Given the description of an element on the screen output the (x, y) to click on. 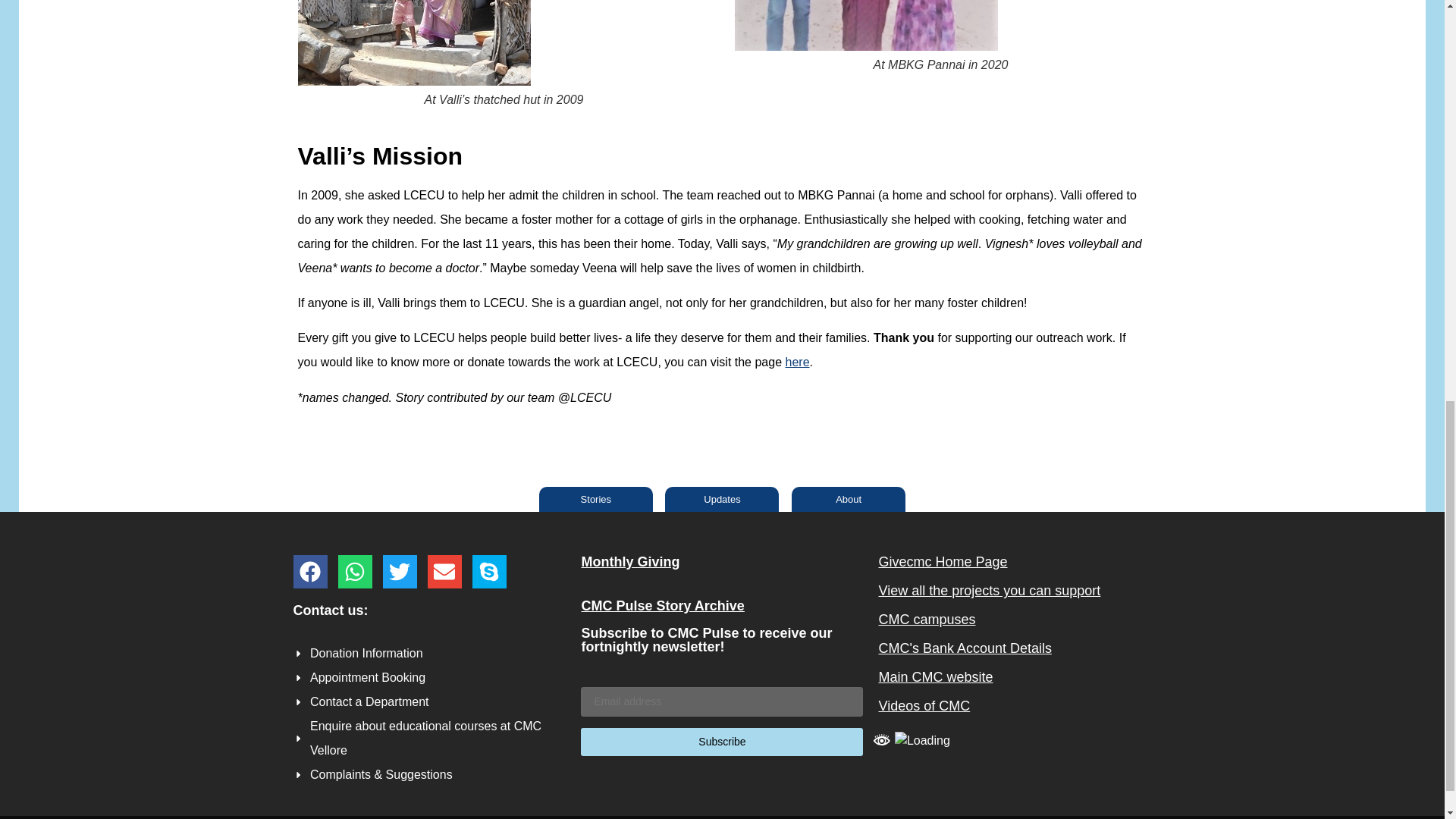
View all the projects you can support (988, 590)
Subscribe (721, 741)
Contact a Department (433, 702)
Givecmc Home Page (942, 561)
Appointment Booking (433, 677)
Subscribe (721, 741)
Videos of CMC (923, 705)
Main CMC website (934, 676)
Updates (721, 498)
About (848, 498)
Enquire about educational courses at CMC Vellore (433, 738)
Donation Information (433, 653)
CMC campuses (926, 619)
Stories (595, 498)
CMC Pulse Story Archive (662, 605)
